Given the description of an element on the screen output the (x, y) to click on. 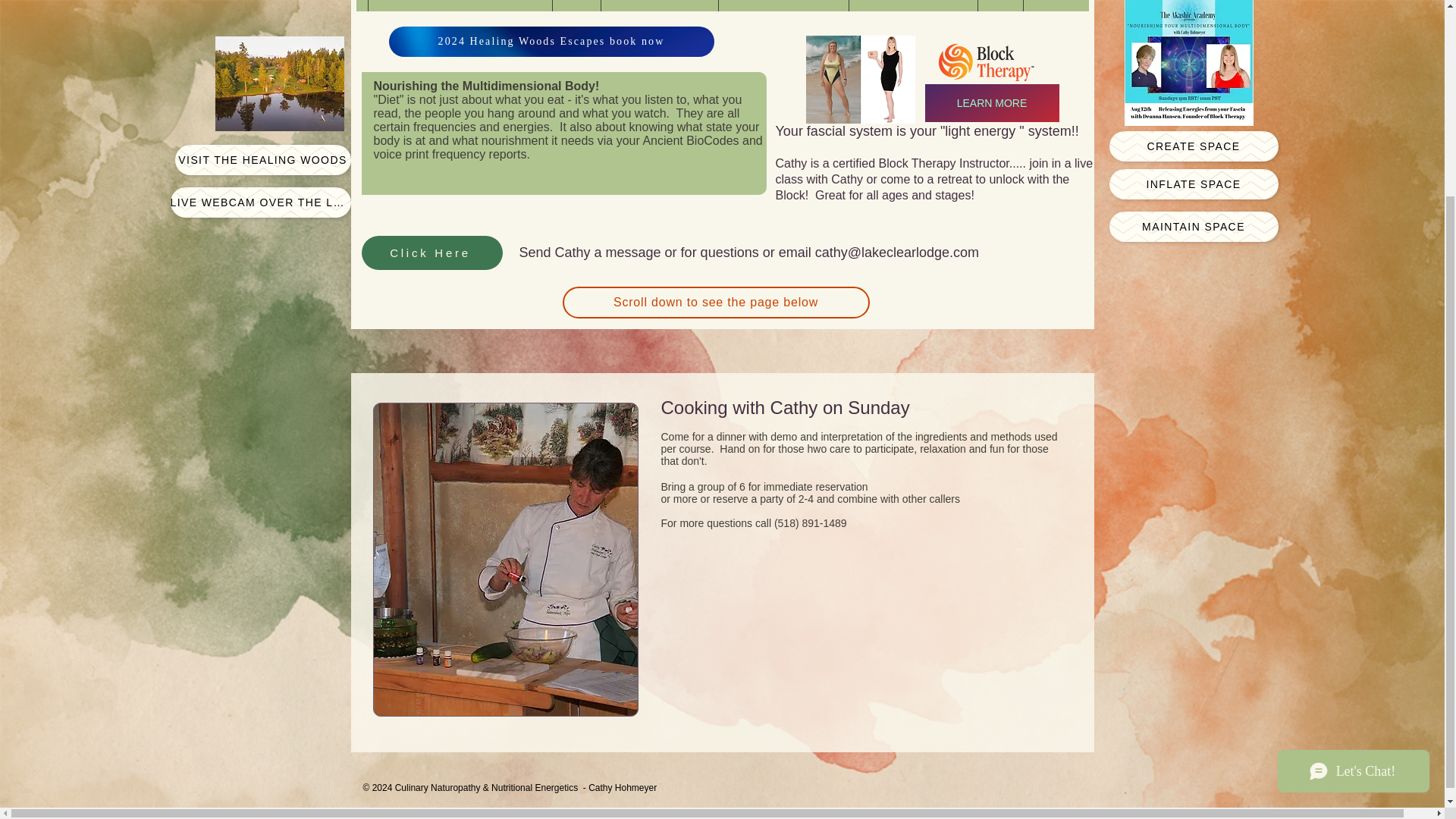
Wix Chat (1356, 521)
LEARN MORE (991, 103)
Home (575, 5)
Culinary Naturopathy (911, 5)
Healing Woods Retreats Adk Mts (458, 5)
2024 Healing Woods Escapes book now (550, 41)
Click Here (431, 252)
Connect with Cathy (658, 5)
Store (999, 5)
Scroll down to see the page below (715, 302)
